Given the description of an element on the screen output the (x, y) to click on. 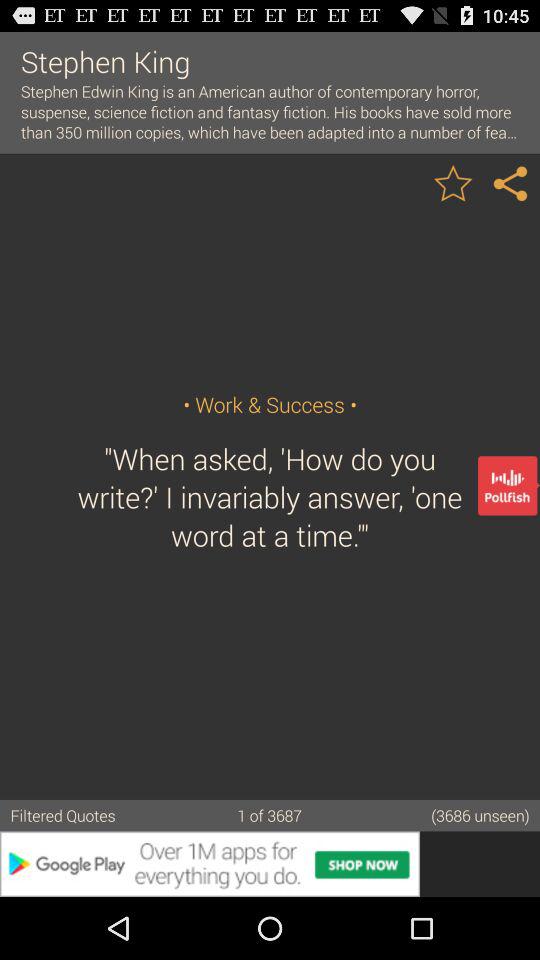
google play store (270, 864)
